Given the description of an element on the screen output the (x, y) to click on. 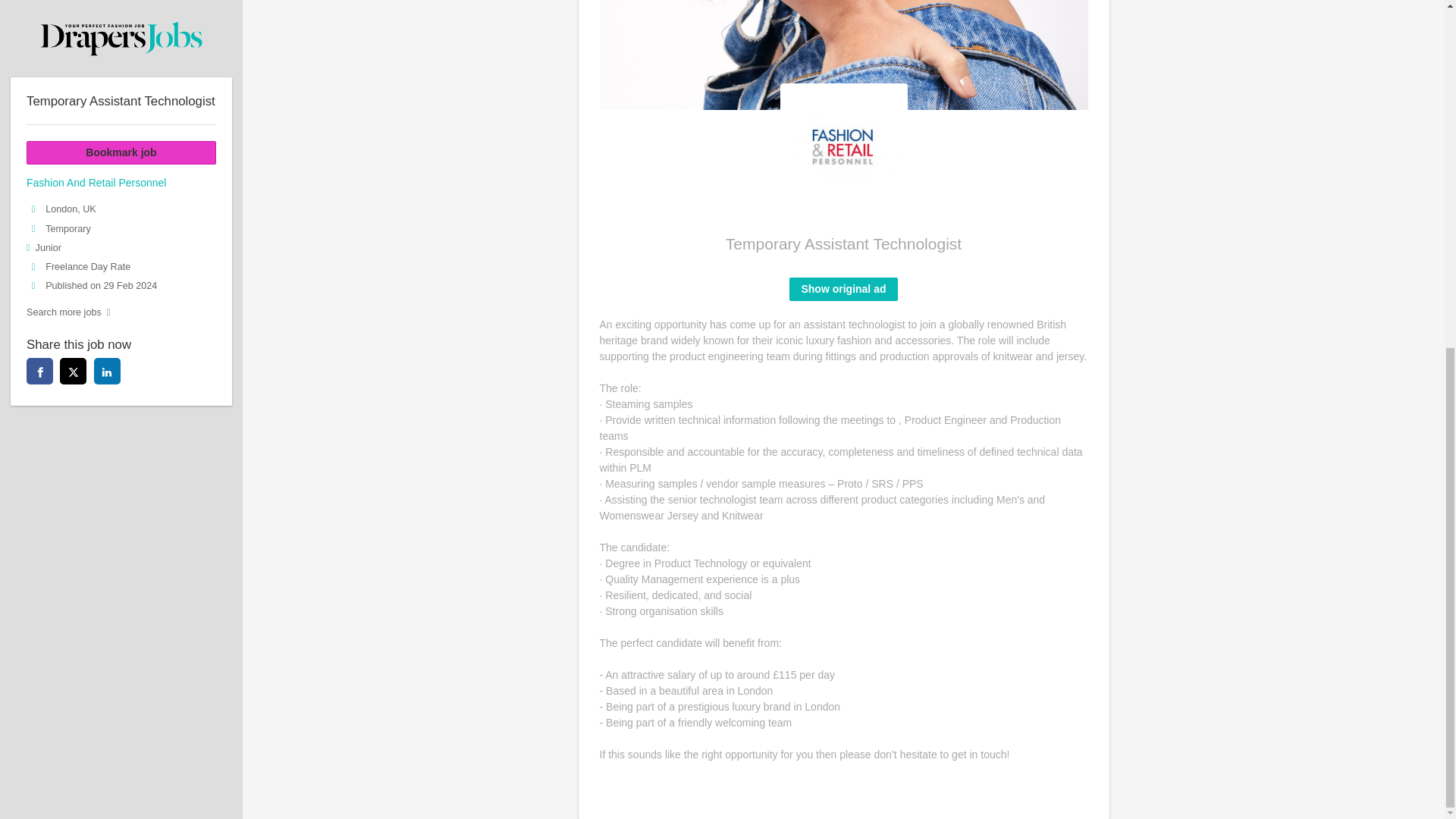
Fashion And Retail Personnel (842, 54)
Fashion And Retail Personnel (842, 47)
Show original ad (842, 288)
Fashion And Retail Personnel (842, 146)
